Given the description of an element on the screen output the (x, y) to click on. 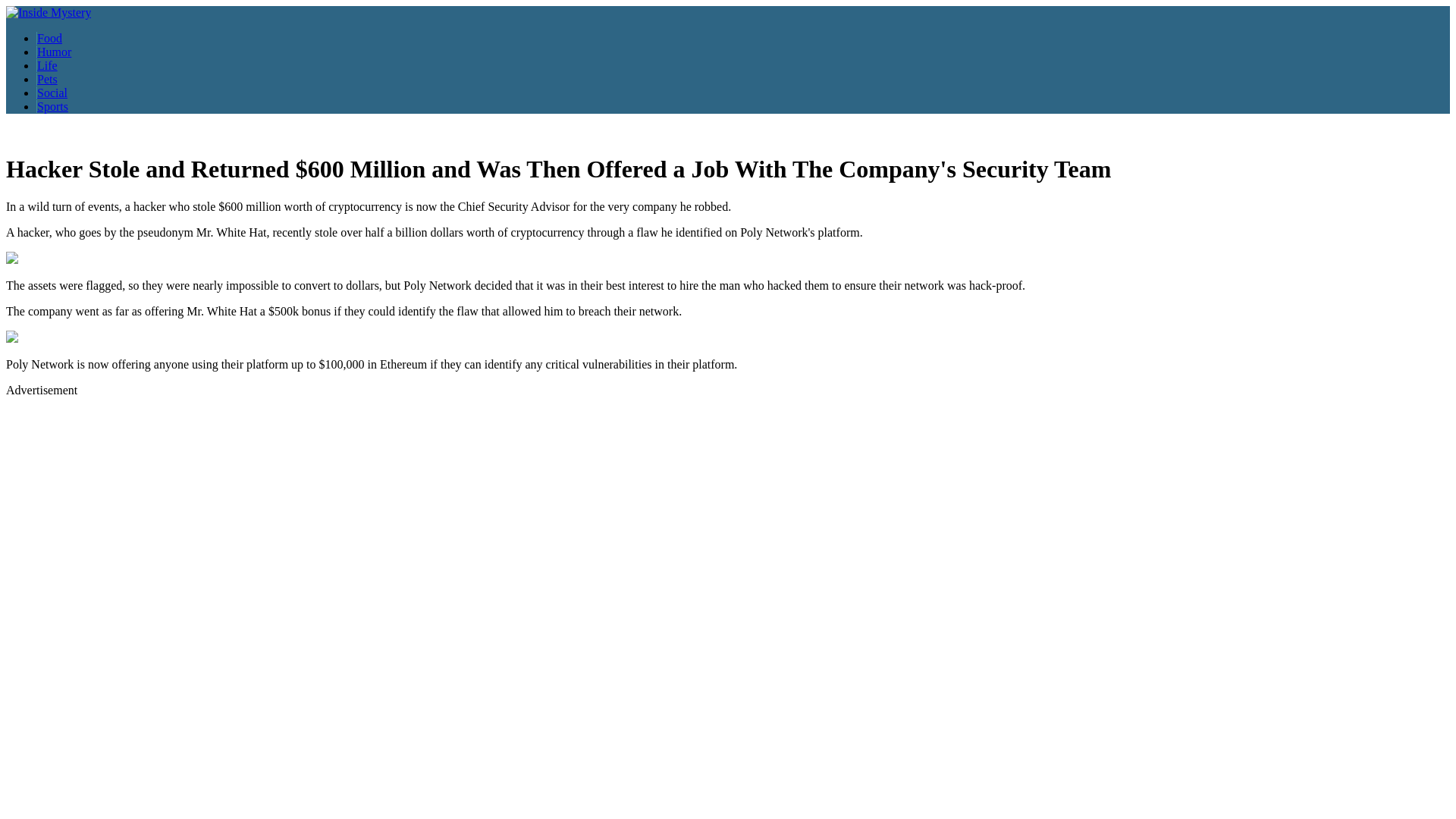
Food (49, 38)
Pets (47, 78)
Sports (52, 106)
Humor (53, 51)
Life (47, 65)
Social (51, 92)
